Given the description of an element on the screen output the (x, y) to click on. 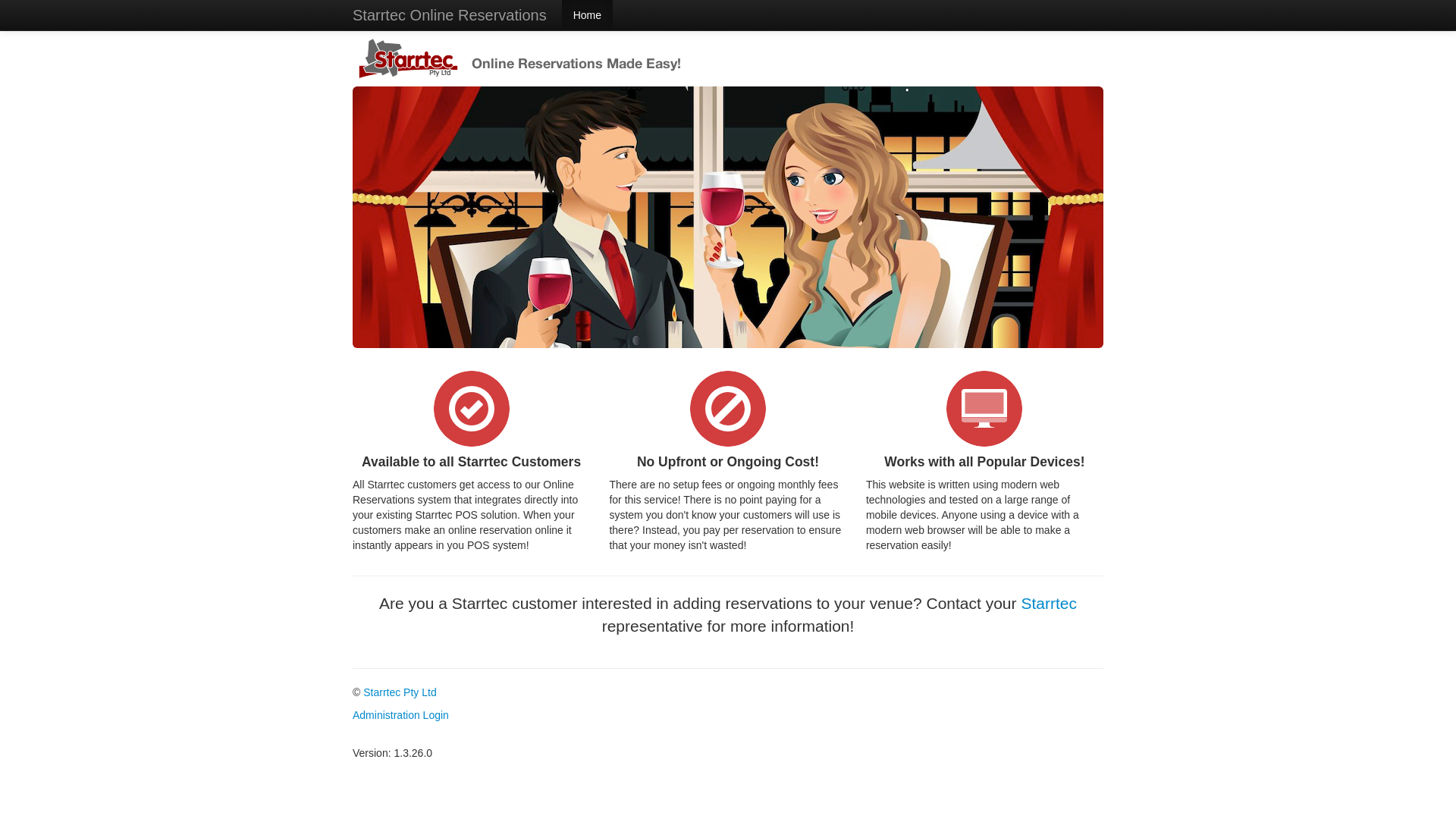
Administration Login Element type: text (400, 715)
Starrtec Pty Ltd Element type: text (399, 692)
Starrtec Online Reservations Element type: text (449, 15)
Home Element type: text (586, 15)
Starrtec Element type: text (1048, 602)
